Given the description of an element on the screen output the (x, y) to click on. 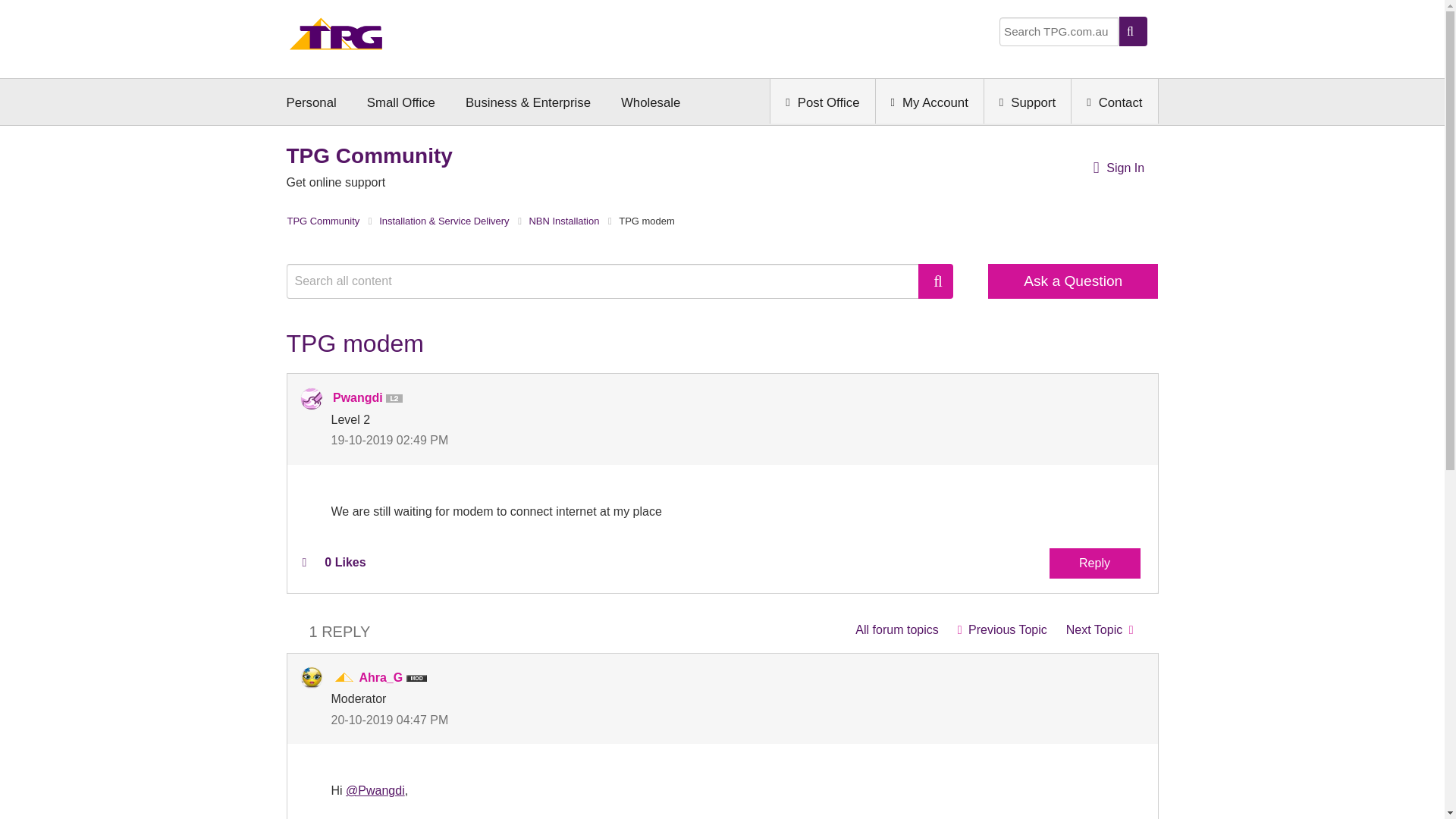
Home (335, 38)
help from TPG please, customer Account Number: xxxxxxx (1099, 629)
NBN Installation (896, 629)
Level 2 (397, 398)
Search (935, 280)
Pwangdi (310, 398)
Moderator (344, 677)
Posted on (526, 439)
Search (610, 280)
Search (935, 280)
